Given the description of an element on the screen output the (x, y) to click on. 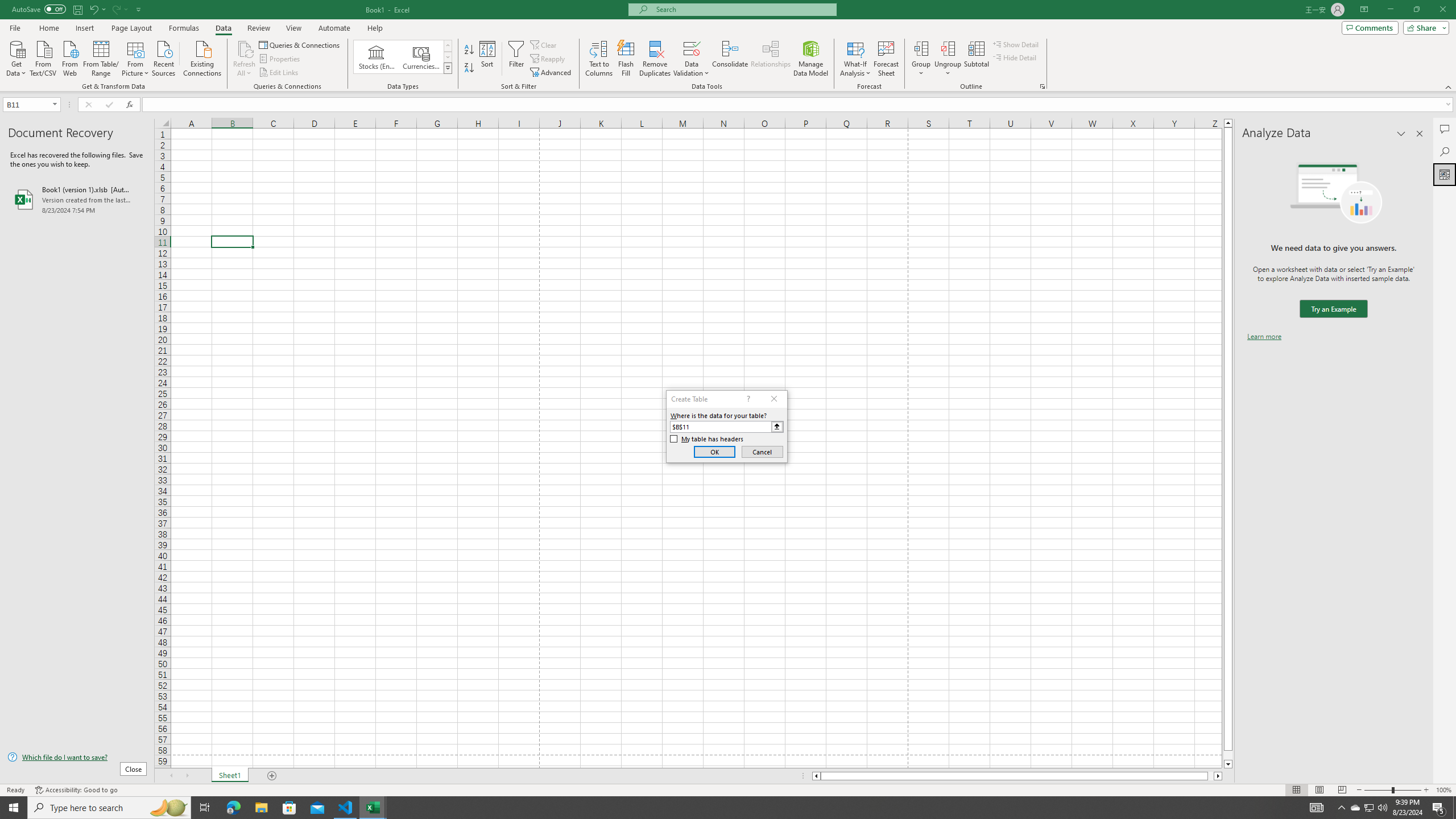
From Text/CSV (43, 57)
